Given the description of an element on the screen output the (x, y) to click on. 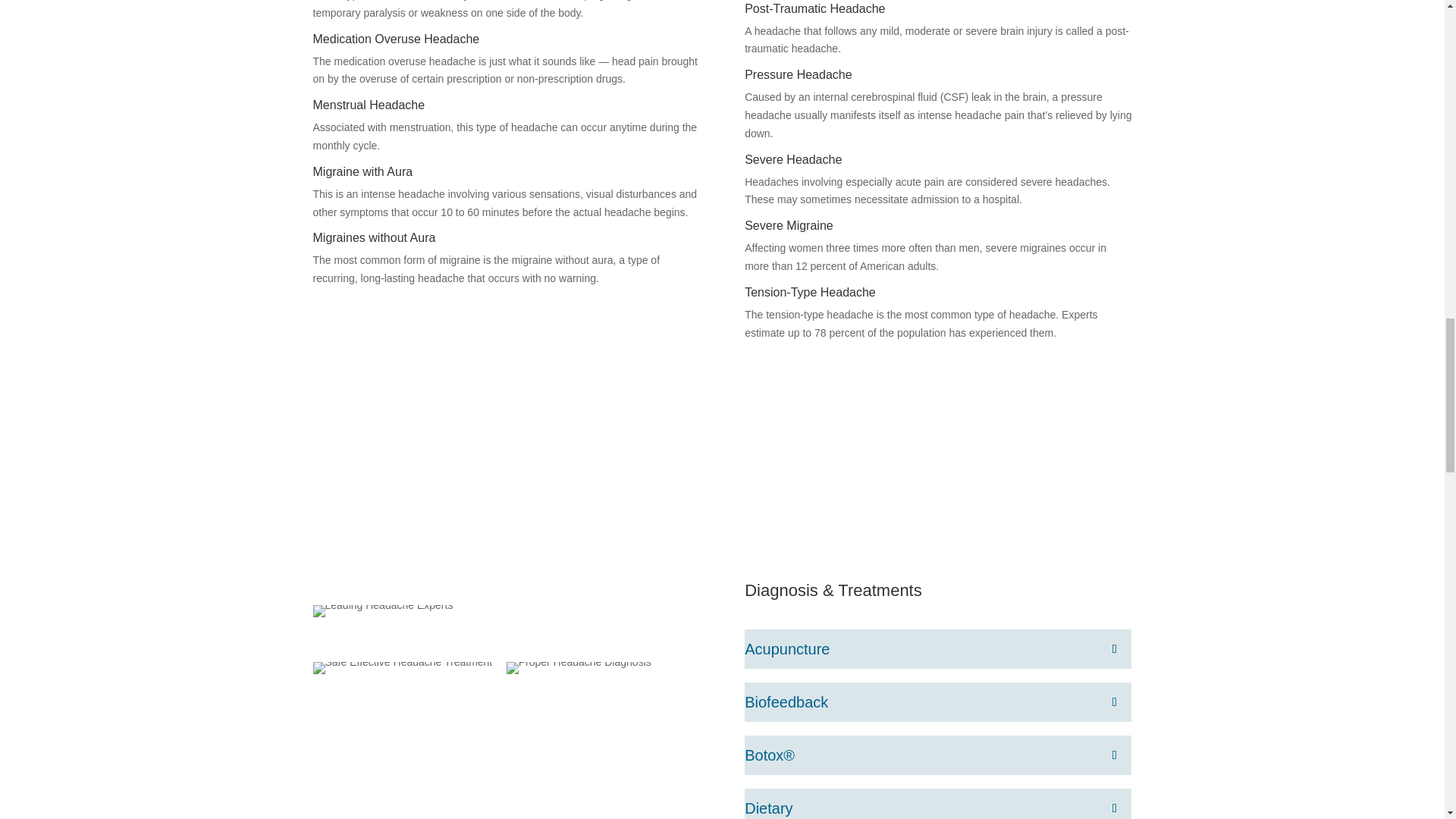
Proper Headache Diagnosis (578, 662)
Safe Effective Headache Treatment (402, 662)
Schedule Appointment (720, 419)
Leading Headache Experts (382, 604)
